Given the description of an element on the screen output the (x, y) to click on. 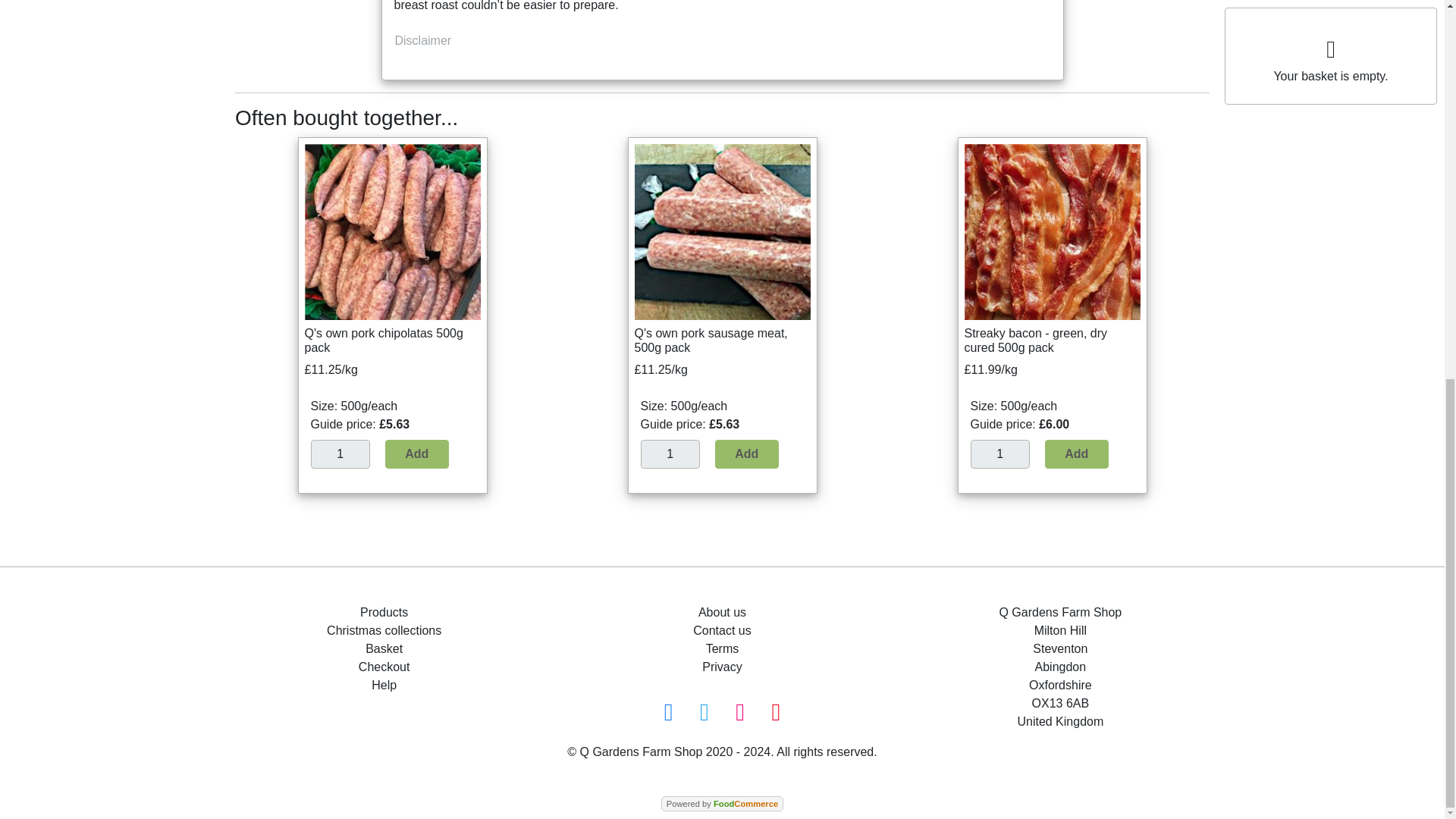
1 (669, 453)
1 (1000, 453)
1 (340, 453)
